Given the description of an element on the screen output the (x, y) to click on. 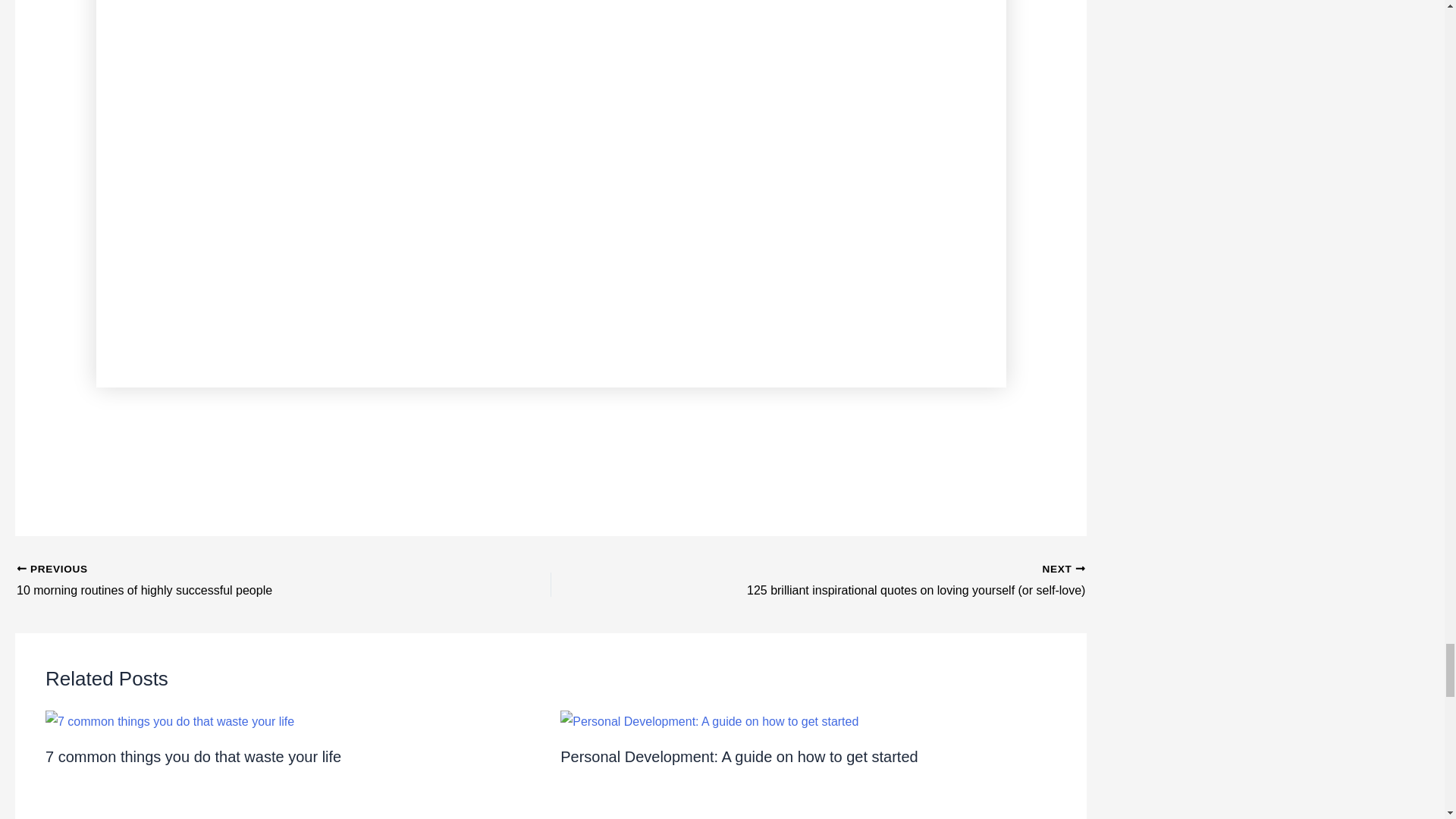
10 morning routines of highly successful people (230, 581)
